Given the description of an element on the screen output the (x, y) to click on. 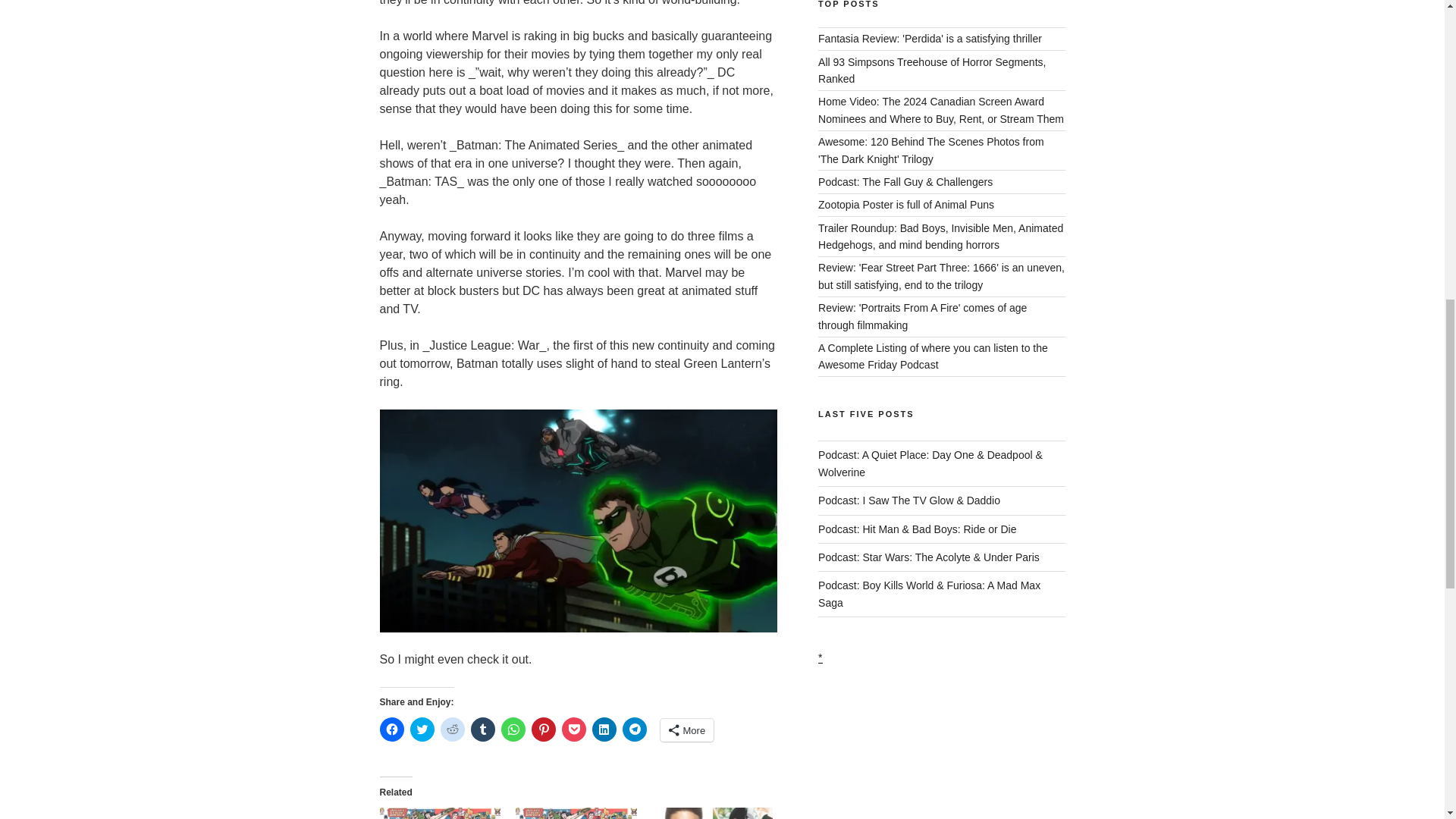
Click to share on Pinterest (542, 729)
Click to share on Reddit (451, 729)
Click to share on Pocket (572, 729)
Click to share on Facebook (390, 729)
Click to share on Twitter (421, 729)
Click to share on LinkedIn (603, 729)
More (686, 730)
Click to share on Telegram (633, 729)
